Given the description of an element on the screen output the (x, y) to click on. 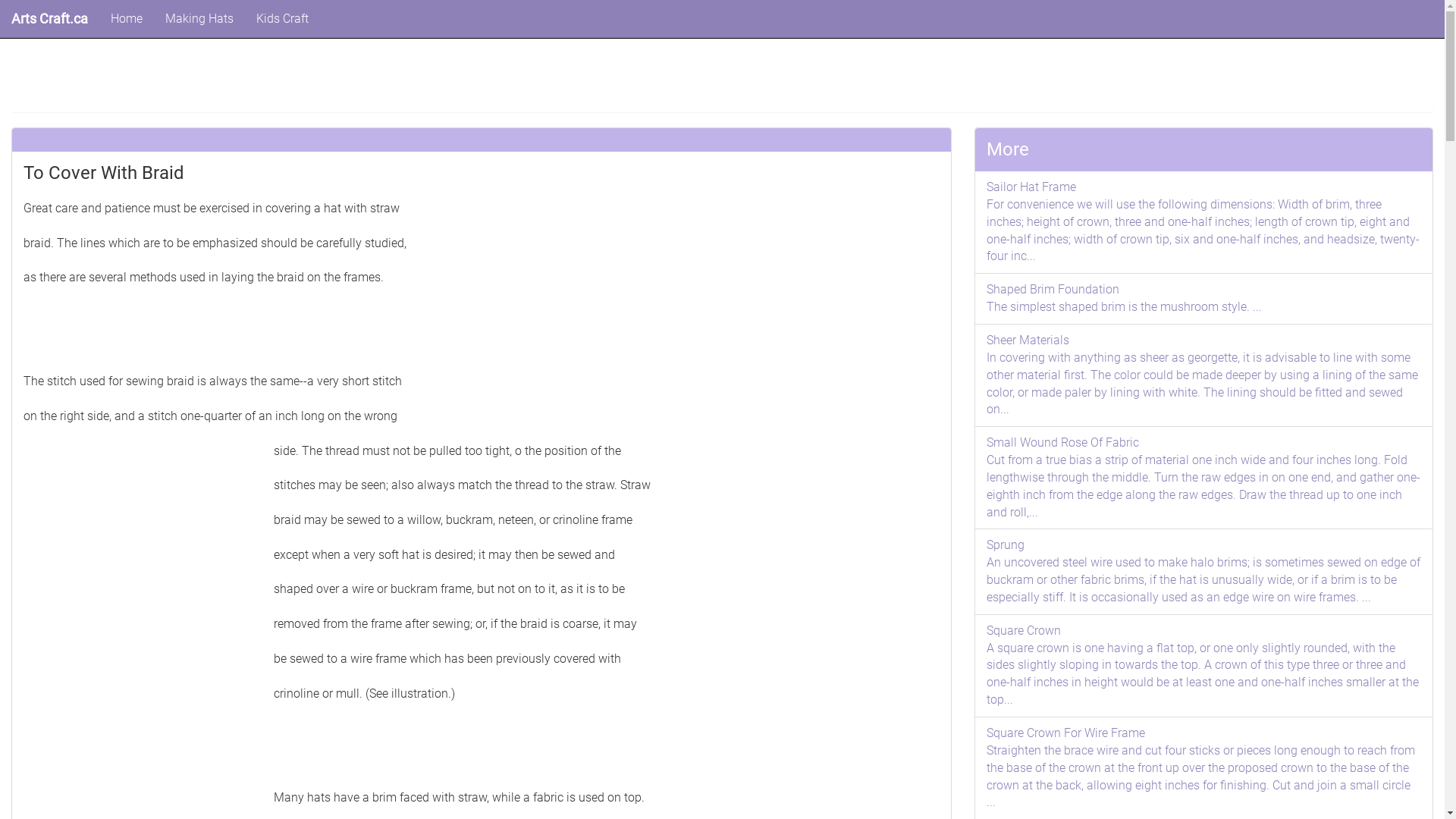
Making Hats Element type: text (198, 18)
Home Element type: text (126, 18)
Arts Craft.ca Element type: text (49, 18)
Kids Craft Element type: text (282, 18)
